Given the description of an element on the screen output the (x, y) to click on. 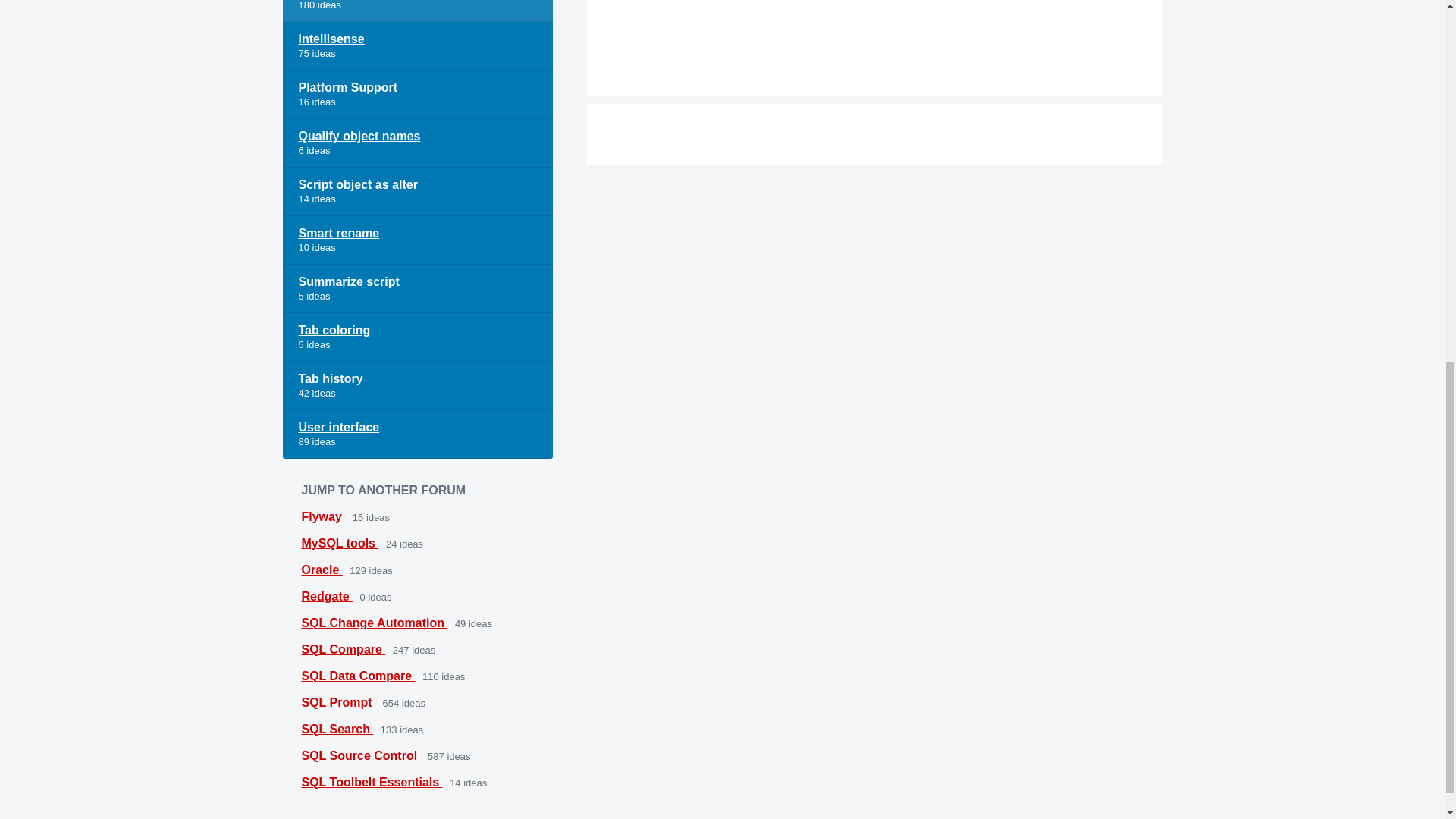
View all ideas in category User interface (417, 434)
Redgate (327, 595)
Tab coloring (417, 336)
SQL Source Control (360, 755)
SQL Prompt (338, 702)
SQL Change Automation (374, 622)
SQL Compare (343, 649)
Flyway (323, 516)
View all ideas in category Tab history (417, 385)
SQL Search (337, 728)
